Given the description of an element on the screen output the (x, y) to click on. 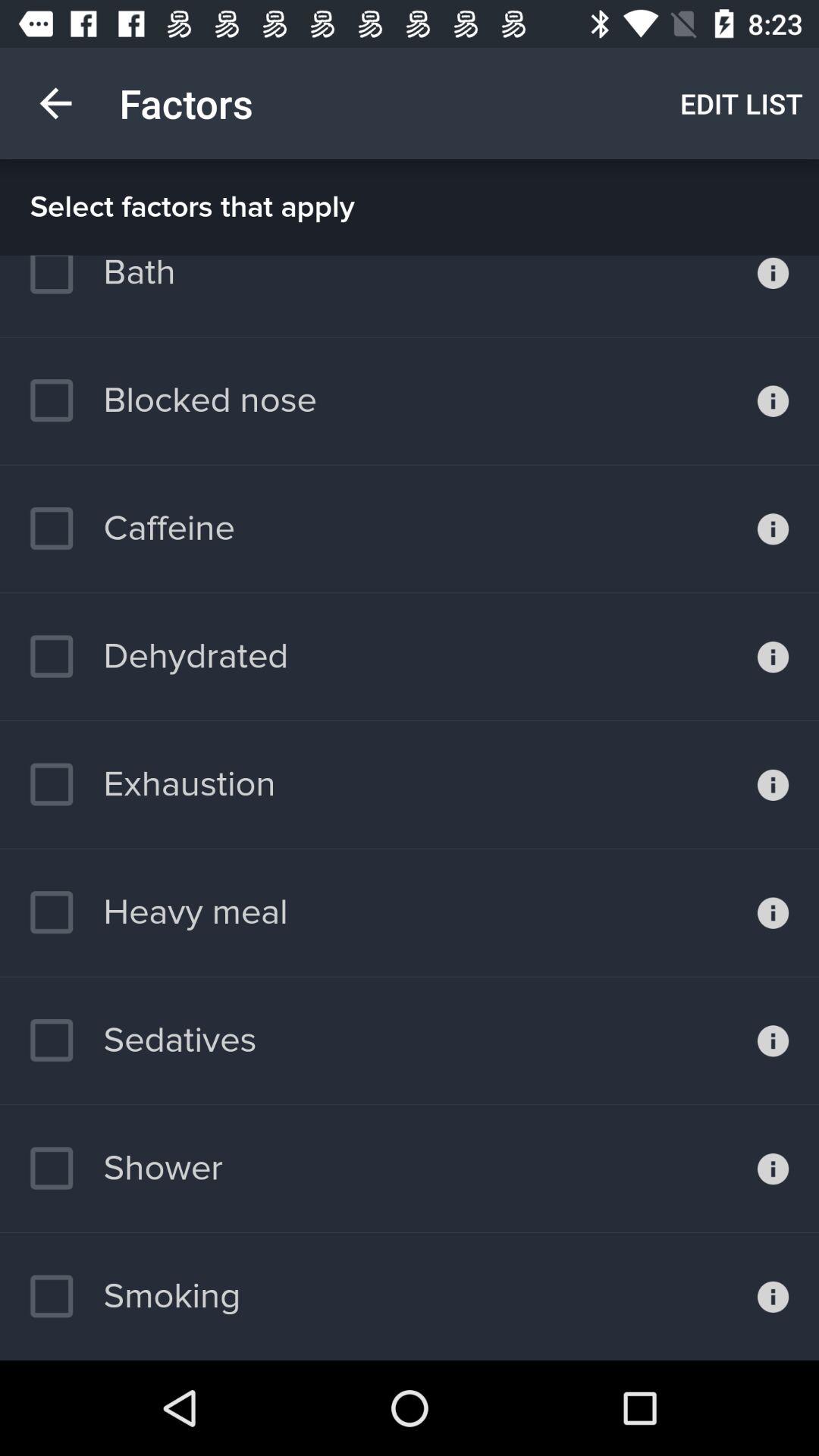
select more information (773, 912)
